Given the description of an element on the screen output the (x, y) to click on. 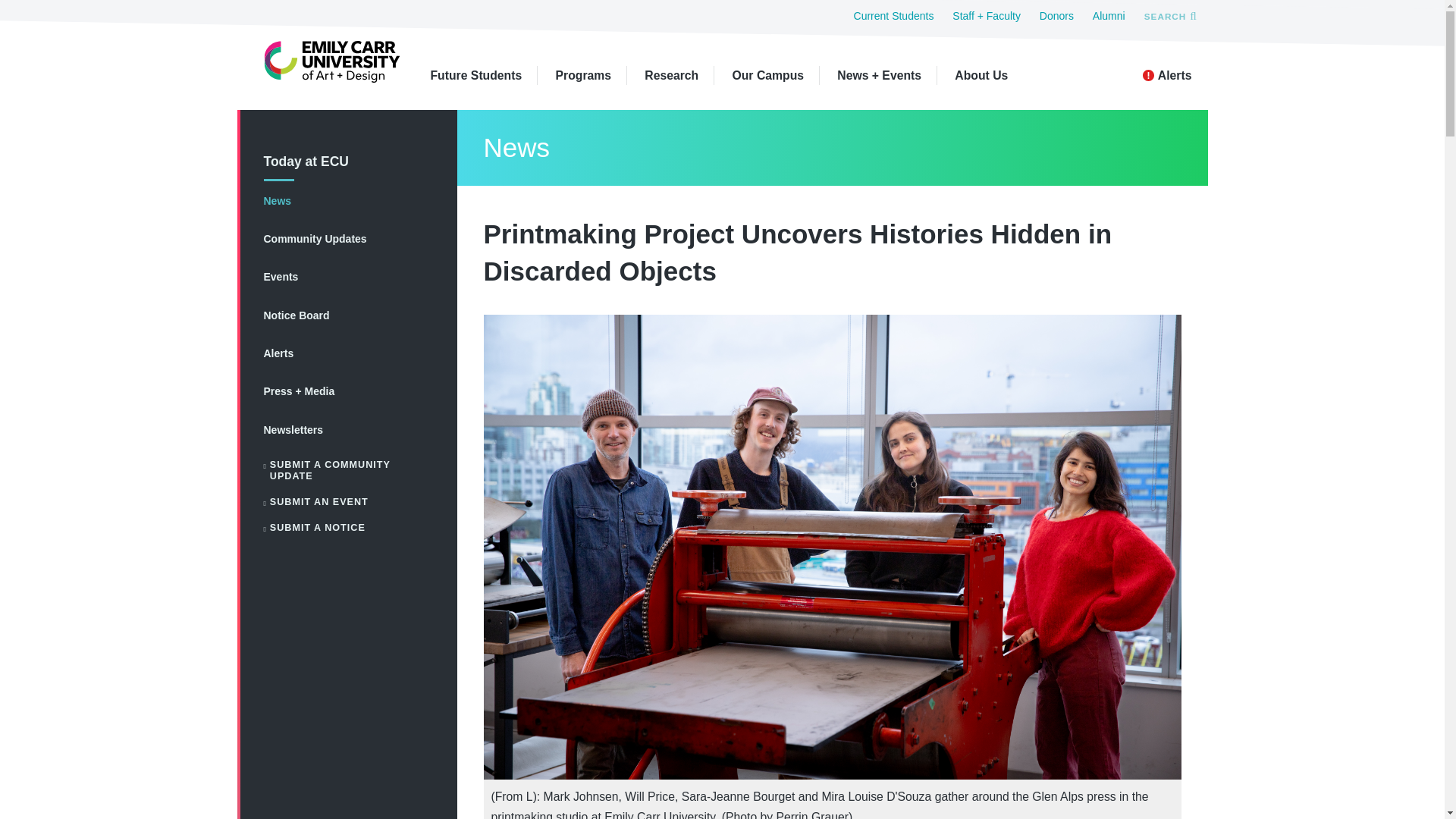
Current Students (893, 15)
SEARCH (1169, 15)
Alumni (1109, 15)
Donors (1056, 15)
